Given the description of an element on the screen output the (x, y) to click on. 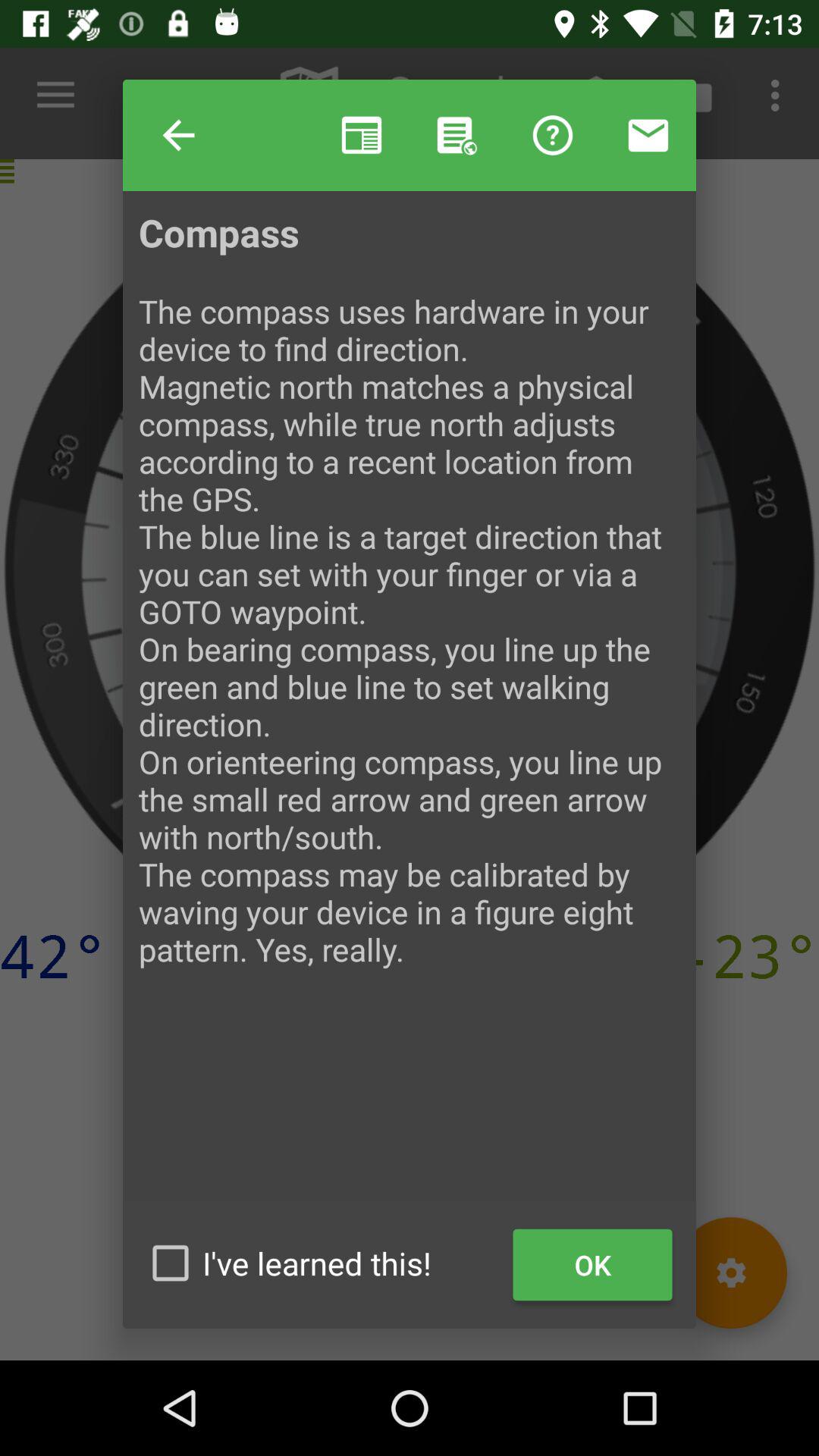
turn on the icon to the right of i ve learned (592, 1264)
